Given the description of an element on the screen output the (x, y) to click on. 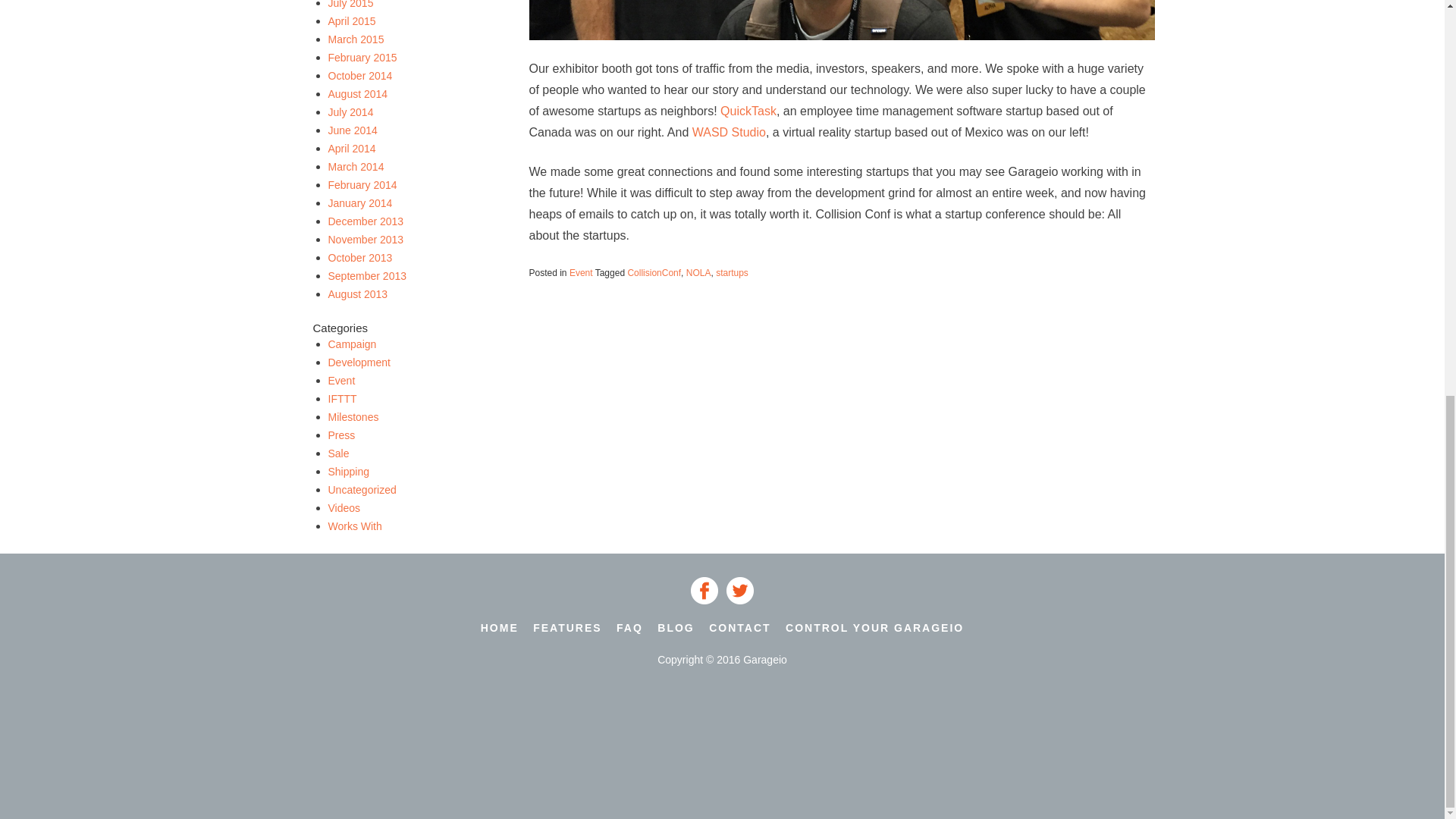
June 2014 (352, 129)
January 2014 (359, 202)
July 2014 (349, 111)
March 2015 (355, 38)
December 2013 (365, 220)
April 2015 (351, 20)
February 2014 (361, 184)
October 2014 (359, 74)
November 2013 (365, 238)
March 2014 (355, 165)
